Given the description of an element on the screen output the (x, y) to click on. 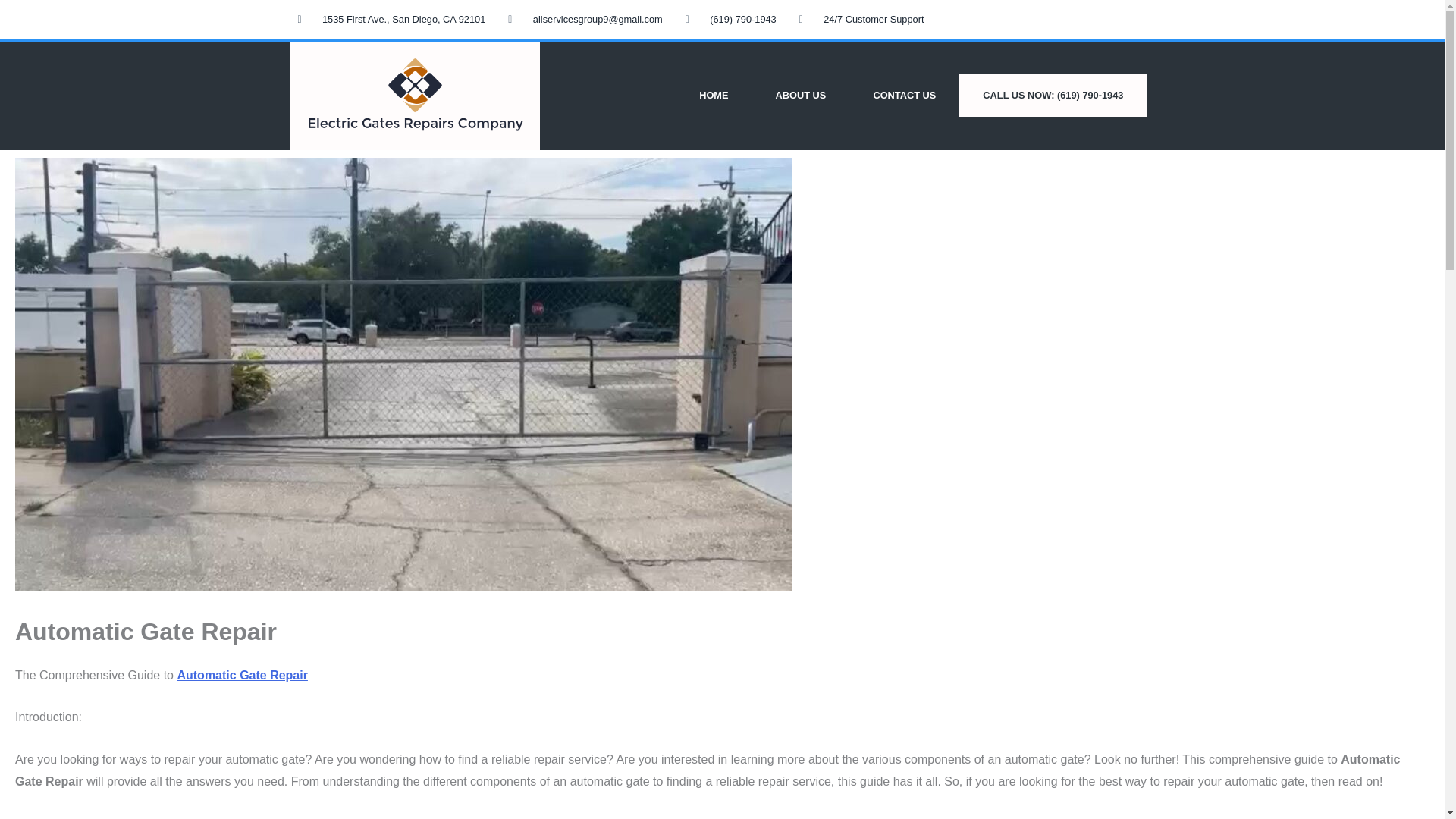
Automatic Gate Repair (241, 675)
ABOUT US (801, 95)
CONTACT US (903, 95)
HOME (713, 95)
